Given the description of an element on the screen output the (x, y) to click on. 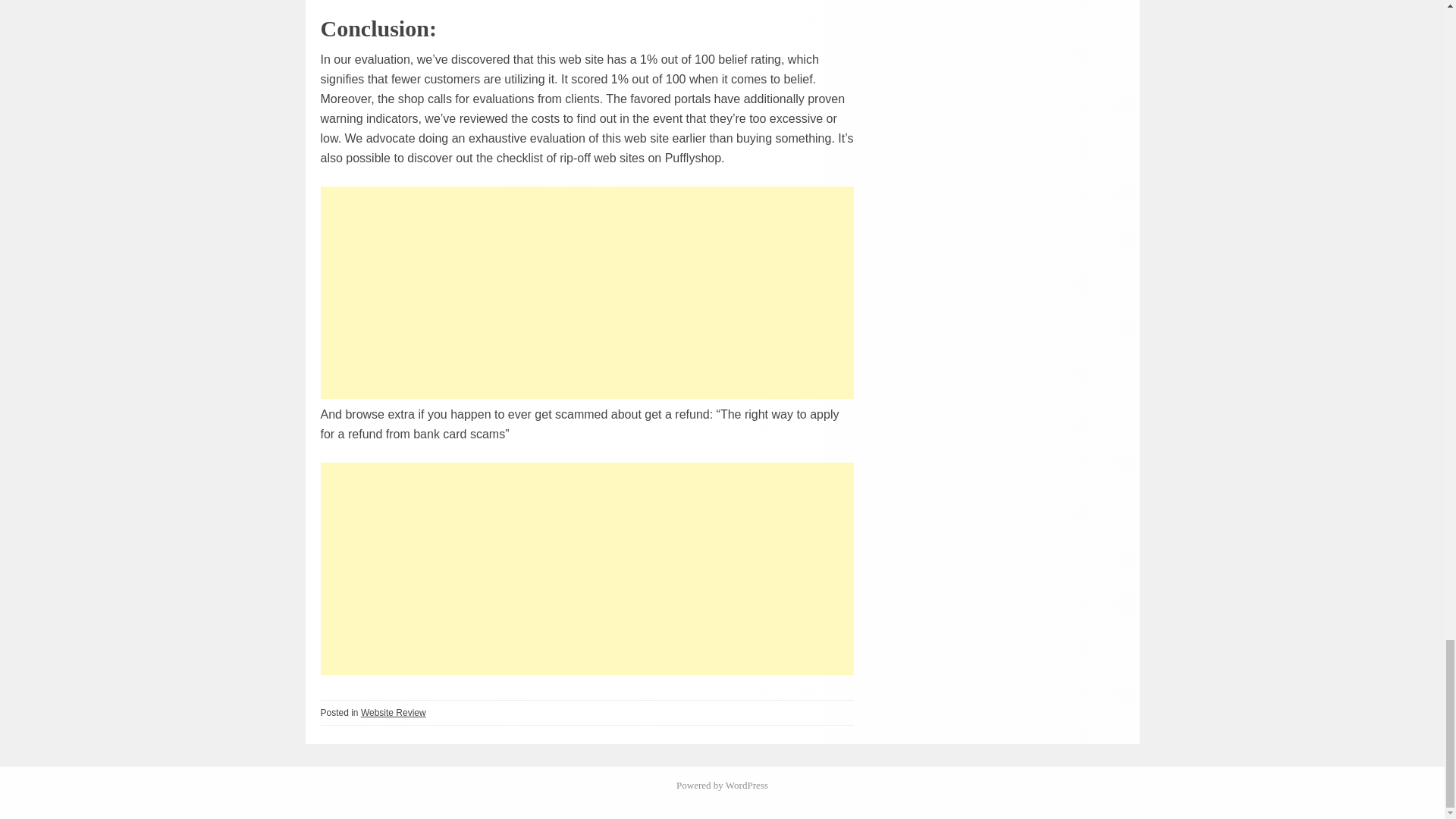
Website Review (393, 712)
